Given the description of an element on the screen output the (x, y) to click on. 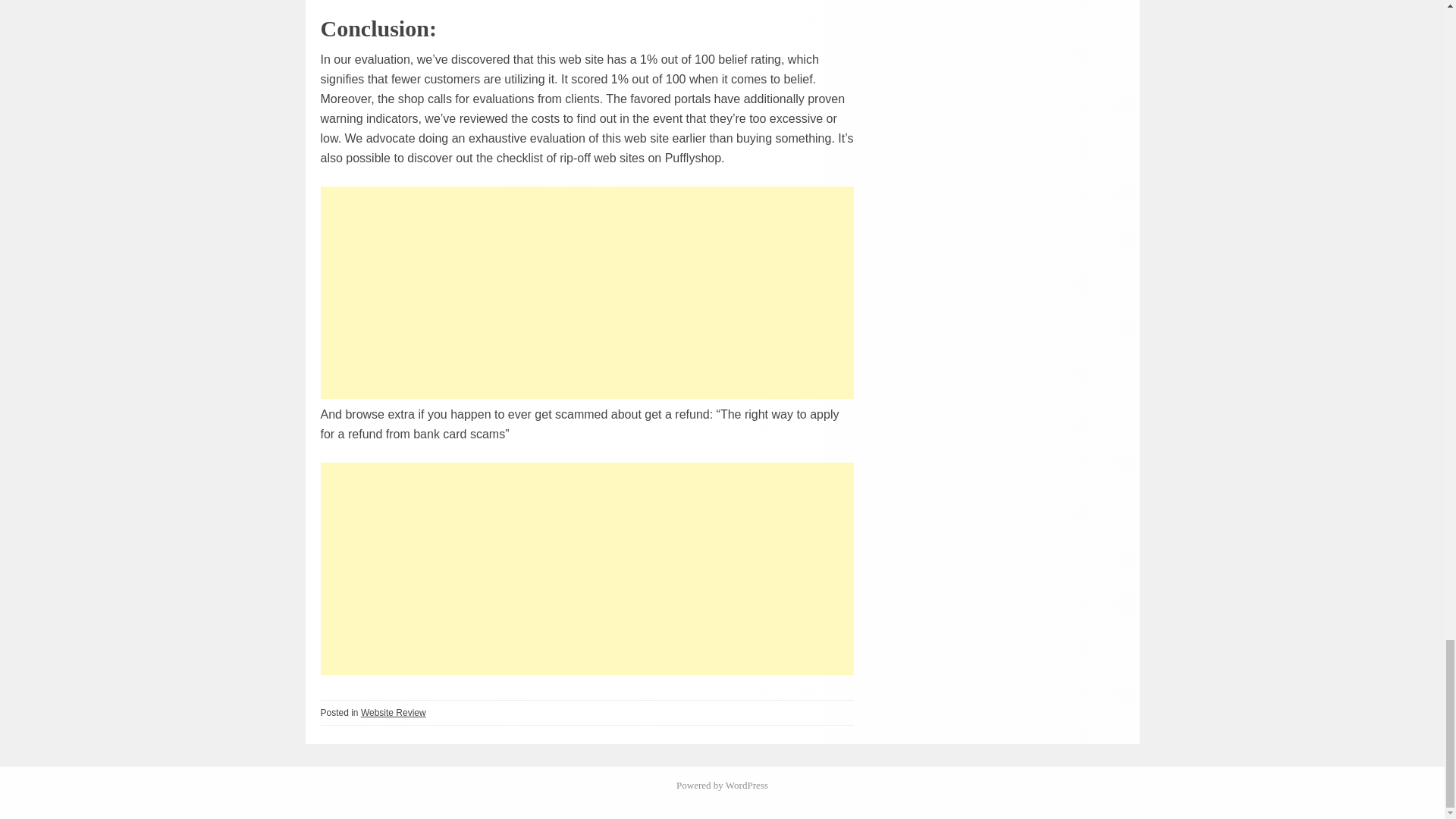
Website Review (393, 712)
